Given the description of an element on the screen output the (x, y) to click on. 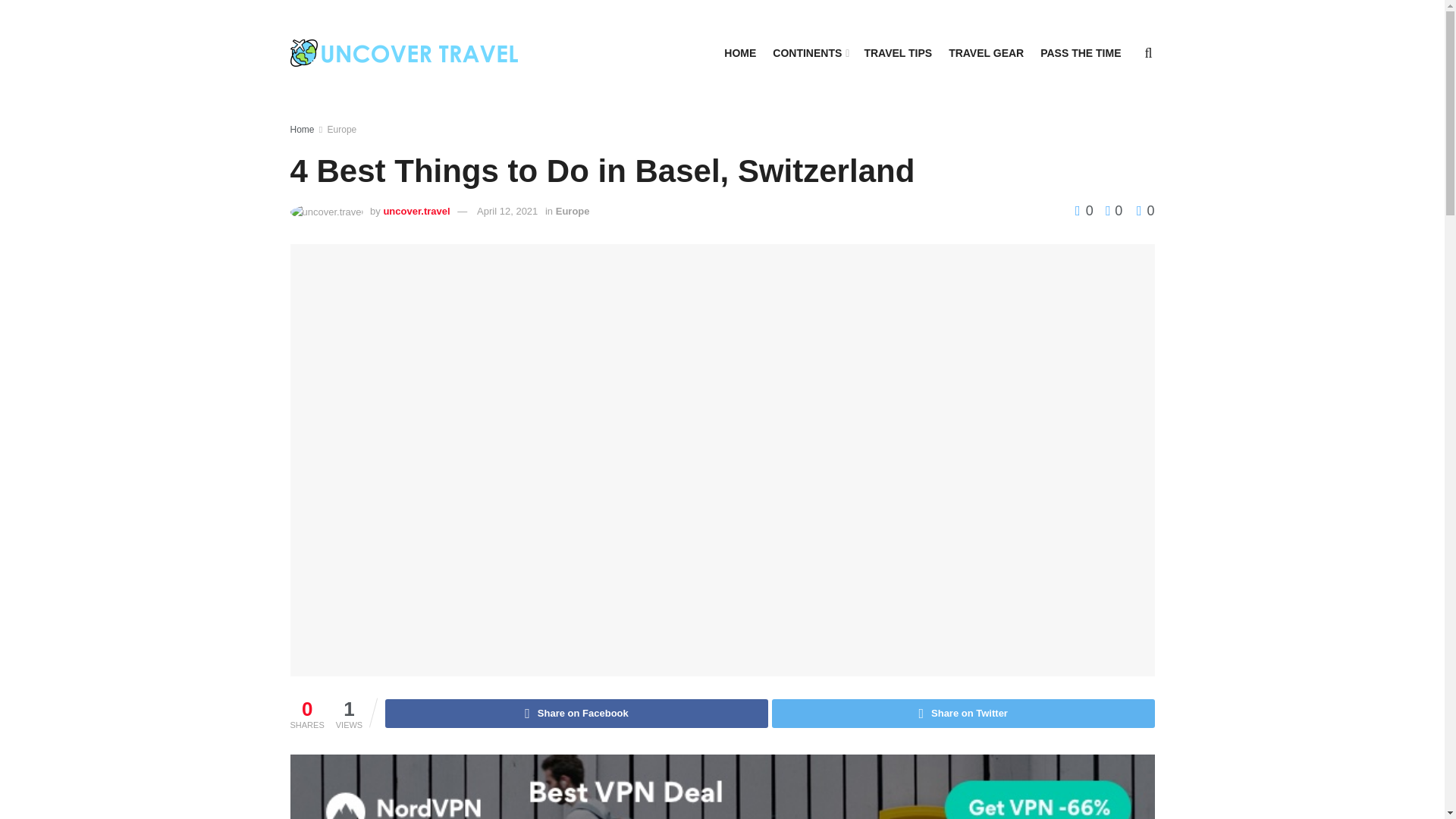
Europe (341, 129)
Share on Facebook (576, 713)
0 (1145, 210)
0 (1109, 210)
Europe (572, 211)
April 12, 2021 (507, 211)
Share on Twitter (962, 713)
uncover.travel (415, 211)
TRAVEL TIPS (897, 52)
Home (301, 129)
TRAVEL GEAR (986, 52)
PASS THE TIME (1081, 52)
CONTINENTS (810, 52)
0 (1086, 210)
HOME (739, 52)
